Given the description of an element on the screen output the (x, y) to click on. 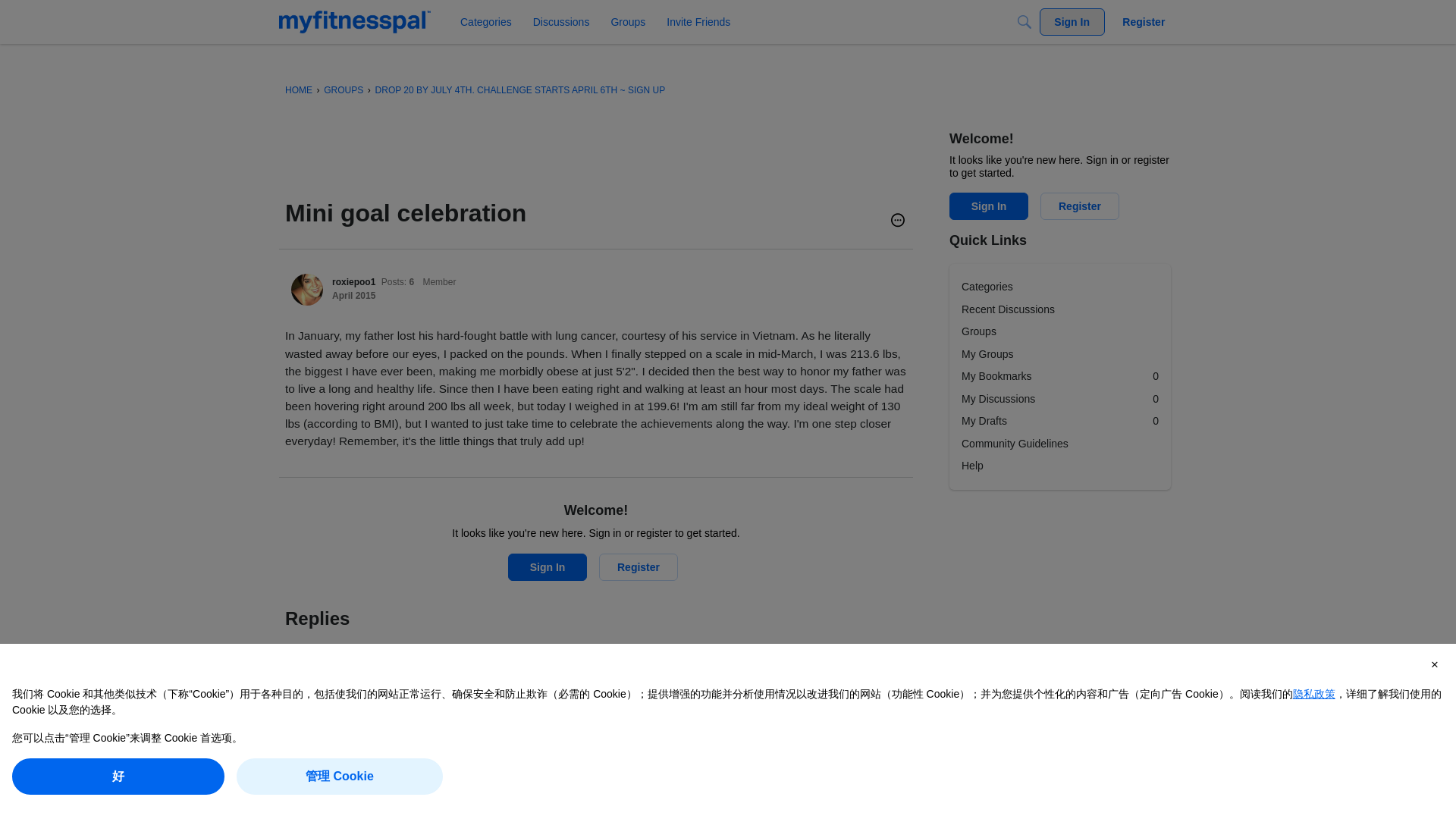
Brans34 (313, 706)
roxiepoo1 (307, 289)
Categories (486, 22)
Invite Friends (698, 22)
April 9, 2015 3:20PM (359, 714)
GROUPS (342, 90)
3rd party ad content (561, 164)
April 9, 2015 3:08PM (353, 295)
Groups (627, 22)
